Given the description of an element on the screen output the (x, y) to click on. 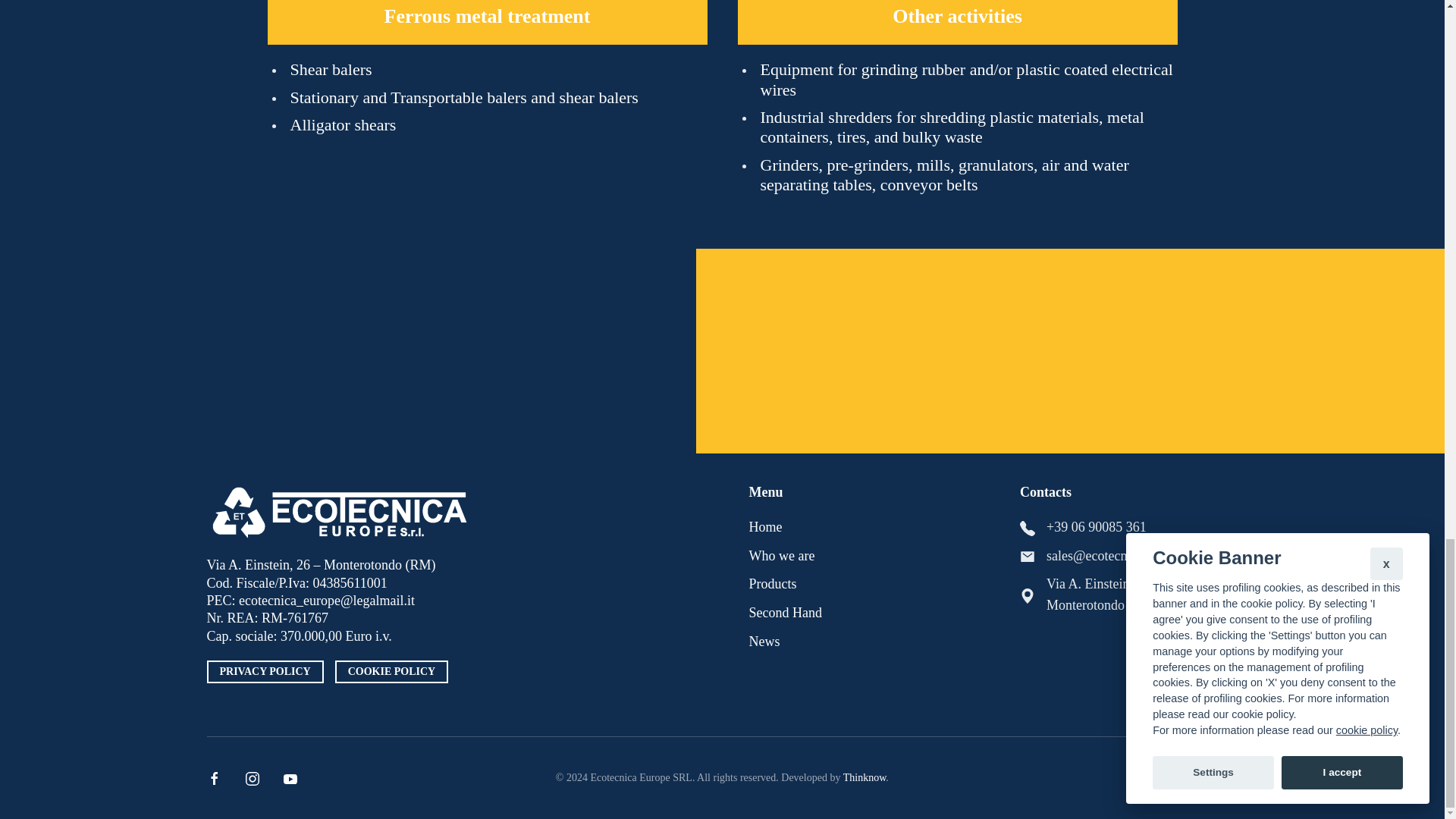
Cookie Policy (391, 671)
Privacy Policy (264, 671)
